Given the description of an element on the screen output the (x, y) to click on. 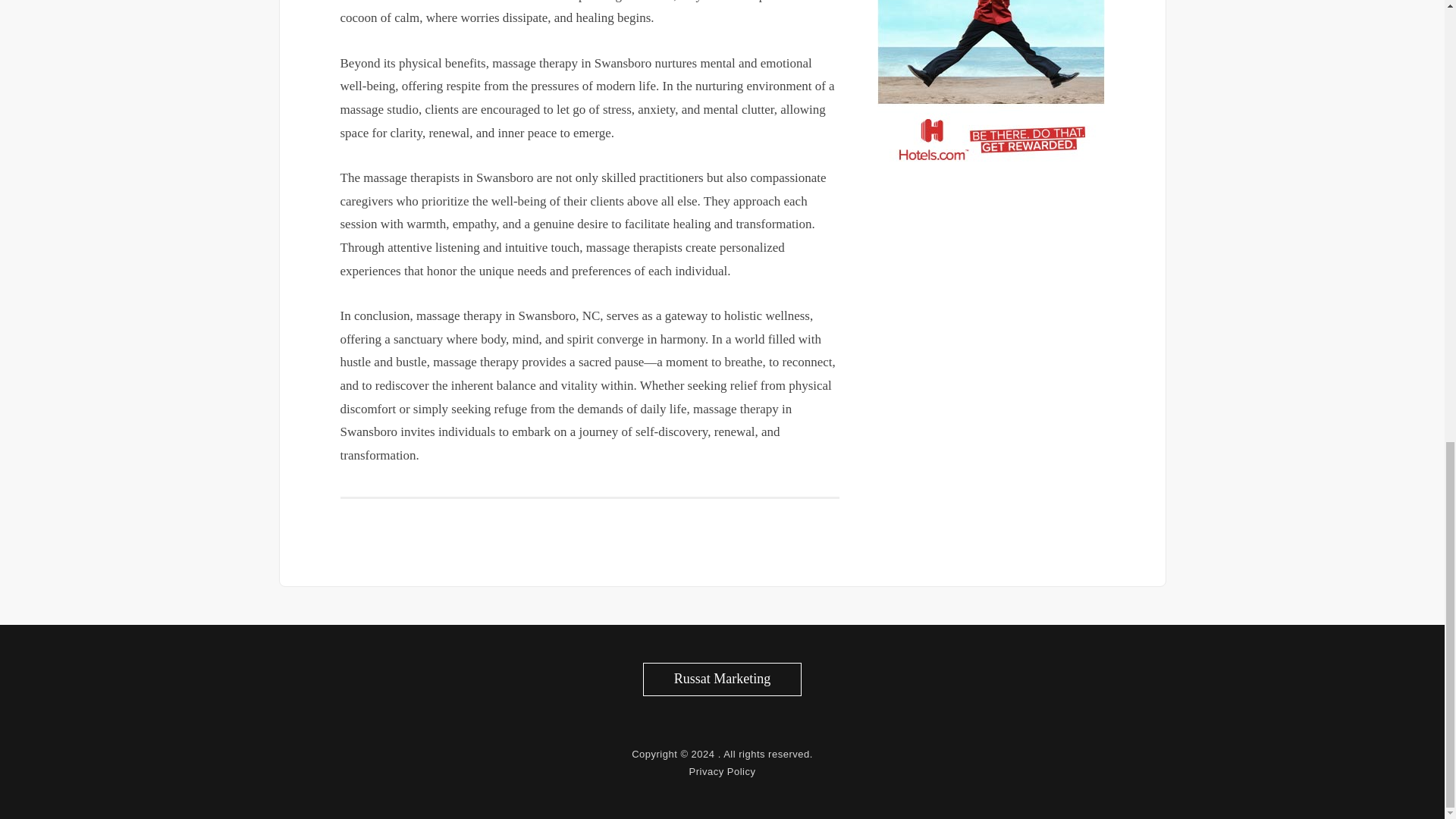
Privacy Policy (721, 771)
